Given the description of an element on the screen output the (x, y) to click on. 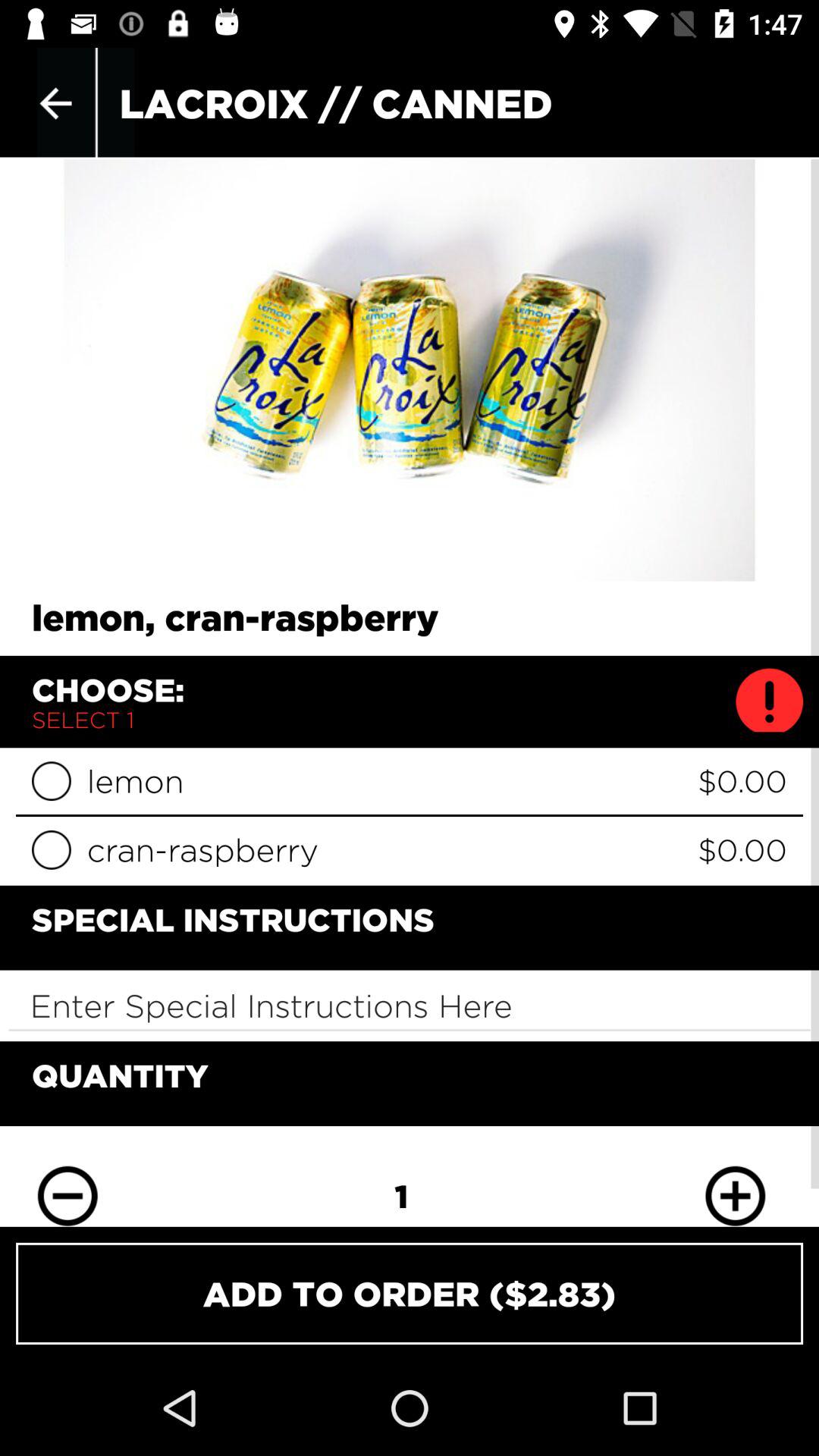
select an option (51, 849)
